Given the description of an element on the screen output the (x, y) to click on. 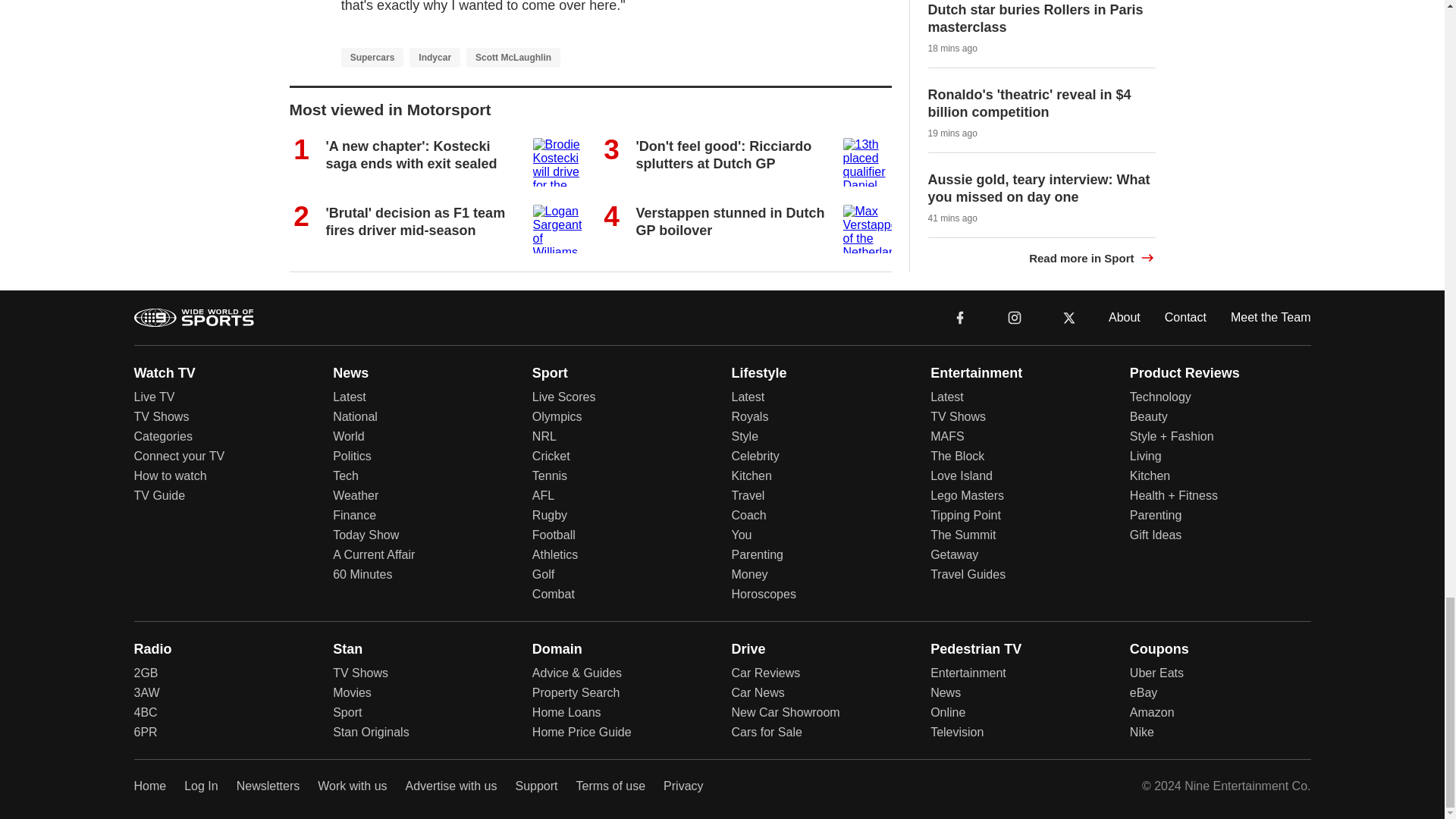
'A new chapter': Kostecki saga ends with exit sealed (411, 154)
instagram (1014, 317)
'Brutal' decision as F1 team fires driver mid-season (415, 221)
Indycar (434, 56)
facebook (959, 316)
x (1069, 317)
Scott McLaughlin (512, 56)
Verstappen stunned in Dutch GP boilover (729, 221)
'Don't feel good': Ricciardo splutters at Dutch GP (722, 154)
facebook (960, 317)
